Given the description of an element on the screen output the (x, y) to click on. 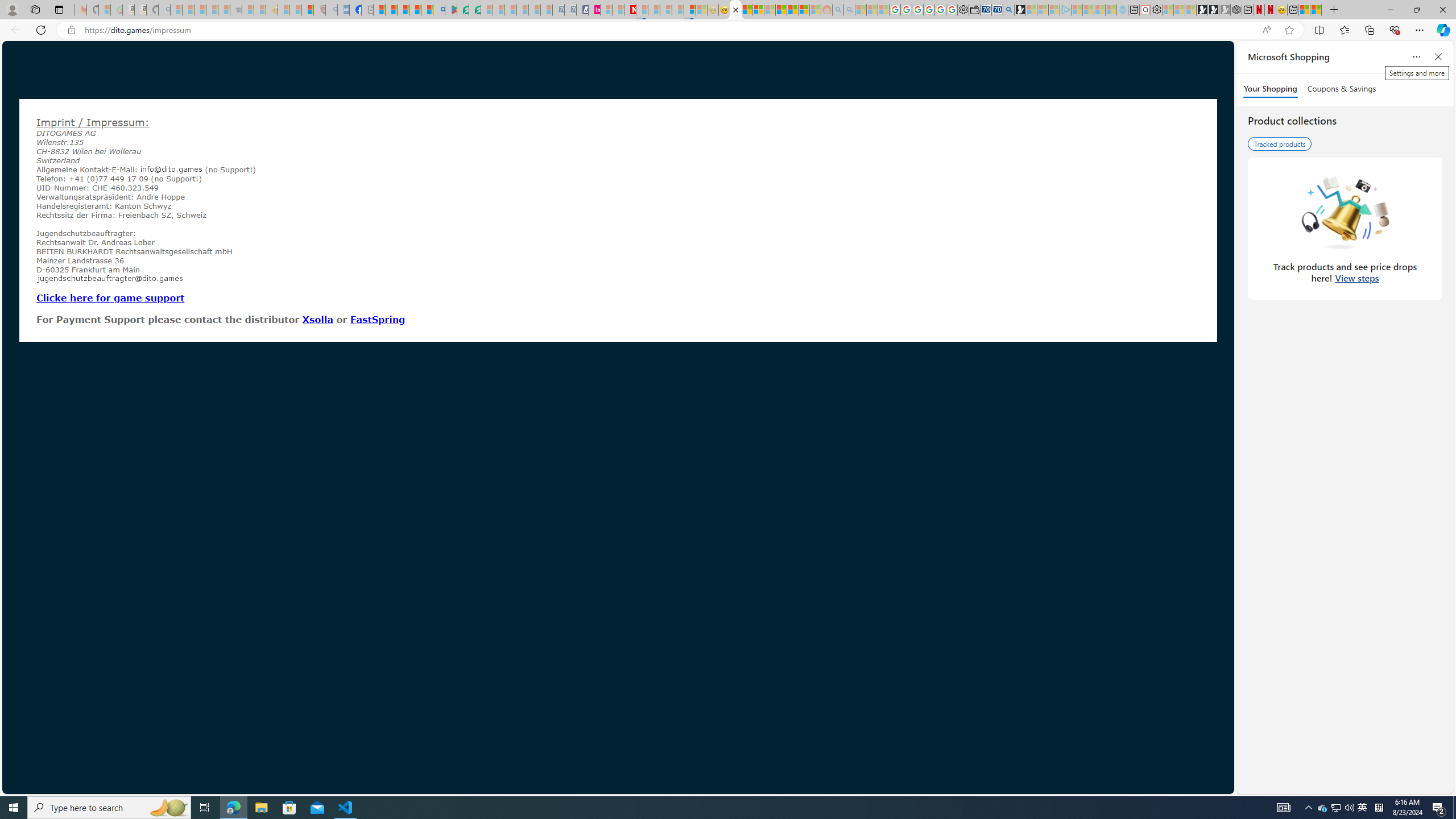
Local - MSN (307, 9)
Terms of Use Agreement (462, 9)
Kinda Frugal - MSN (792, 9)
